Given the description of an element on the screen output the (x, y) to click on. 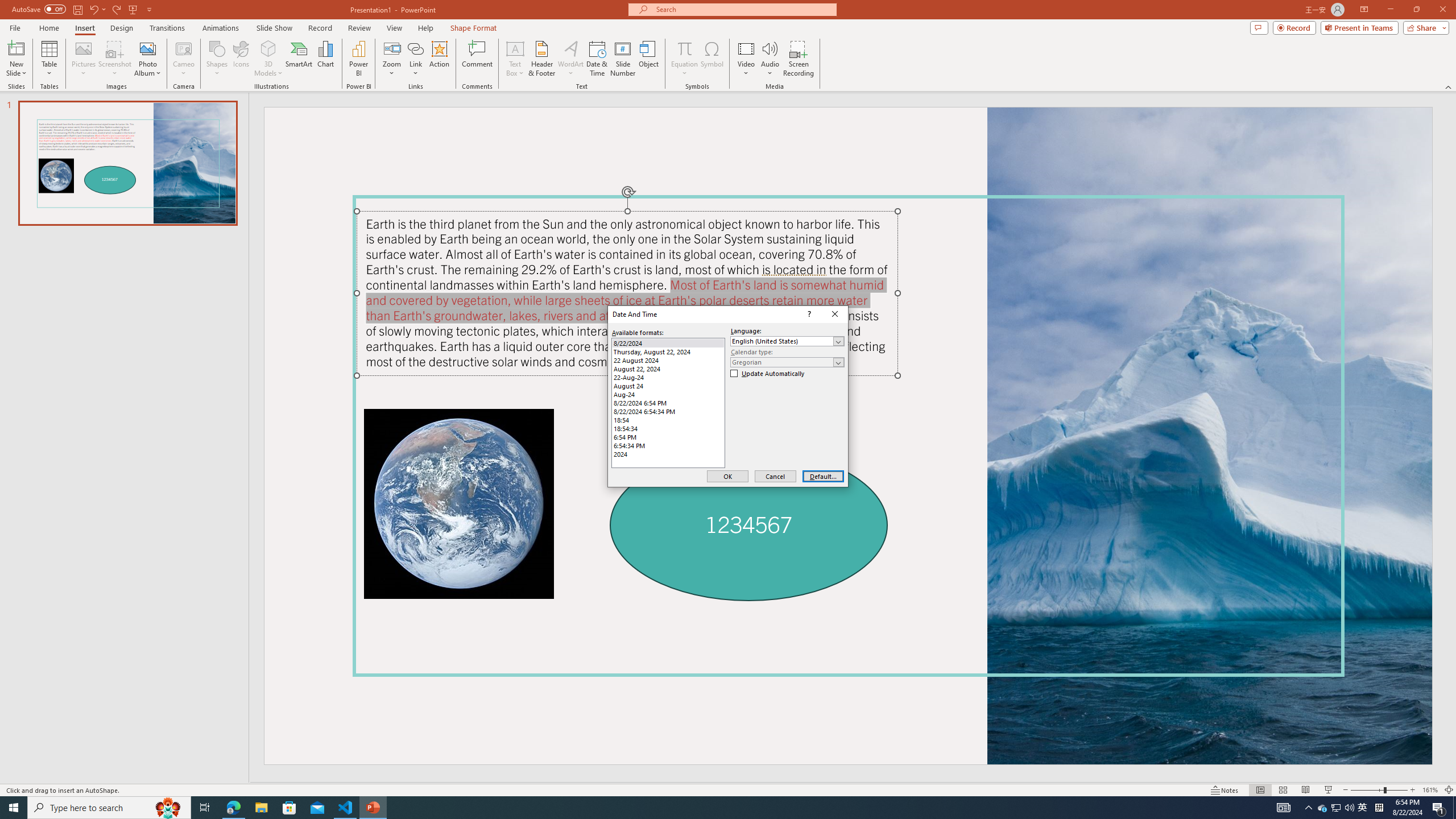
Tray Input Indicator - Chinese (Simplified, China) (1378, 807)
Audio (769, 58)
8/22/2024 6:54 PM (667, 402)
Search highlights icon opens search home window (167, 807)
Cancel (775, 476)
Zoom 161% (1430, 790)
Object... (649, 58)
Calendar type (787, 362)
